Given the description of an element on the screen output the (x, y) to click on. 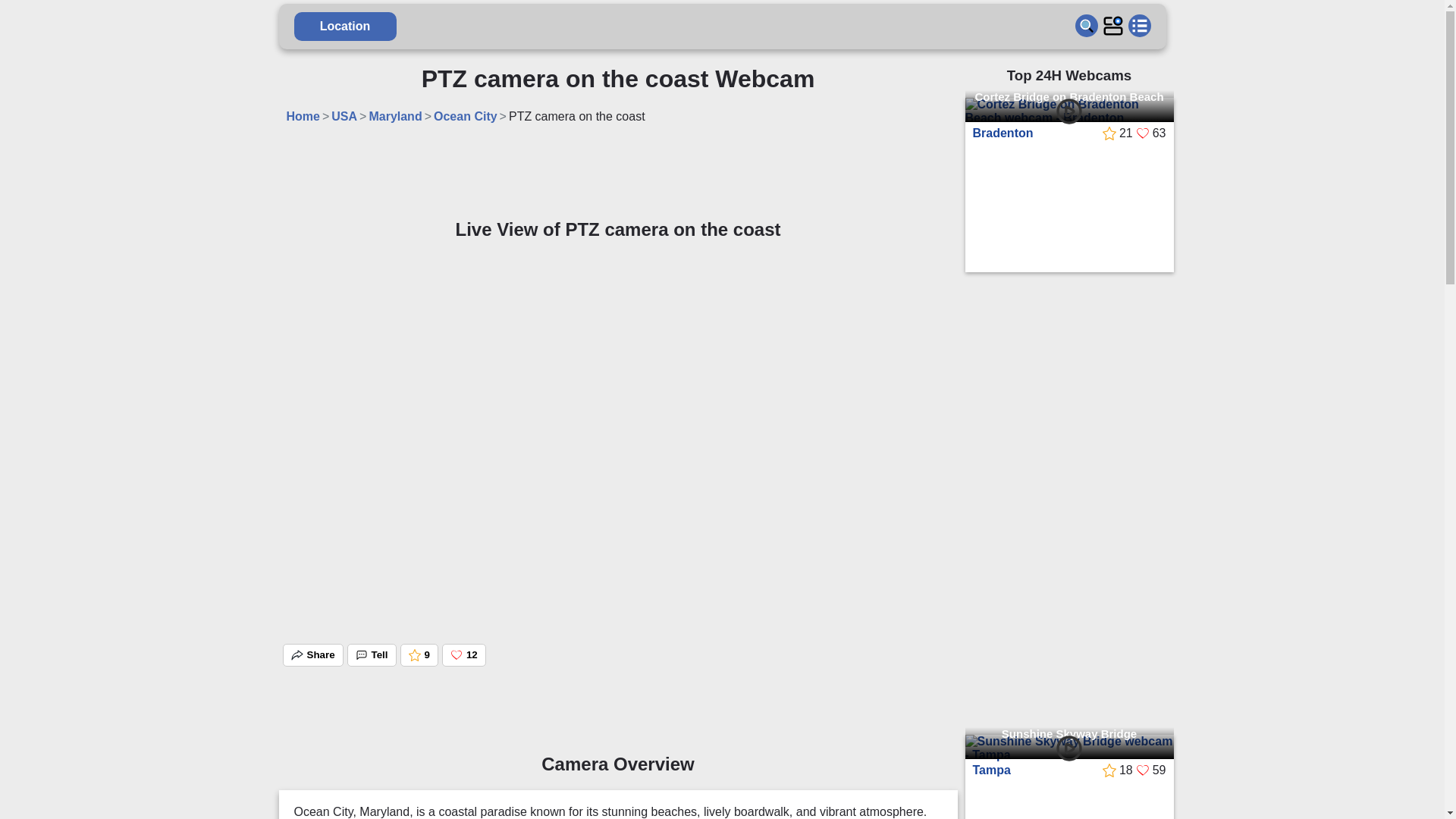
Camguide.net - main page (722, 26)
Location (345, 26)
